Given the description of an element on the screen output the (x, y) to click on. 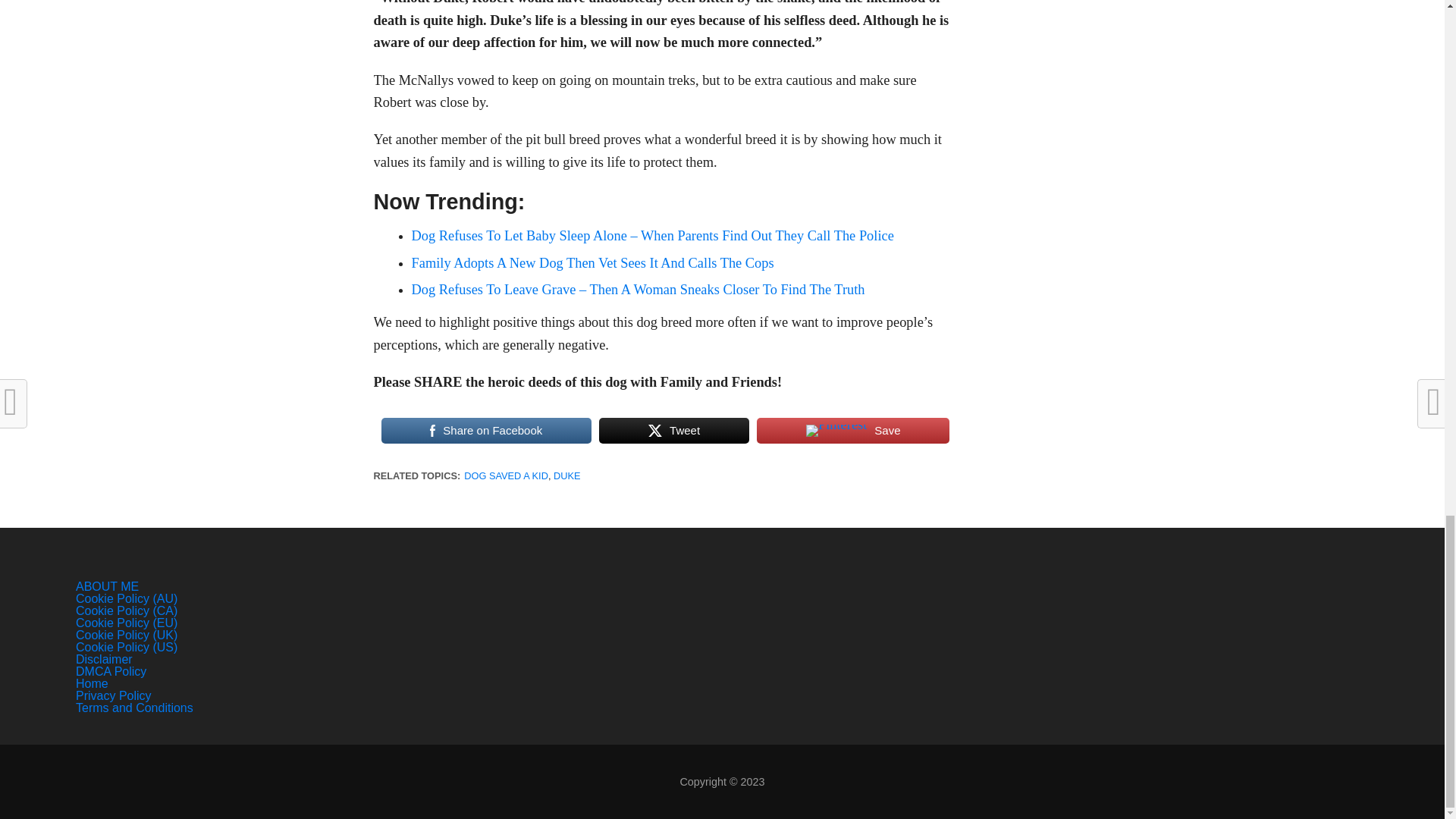
DOG SAVED A KID (506, 475)
Save (853, 430)
Share on Facebook (485, 430)
DUKE (566, 475)
Family Adopts A New Dog Then Vet Sees It And Calls The Cops (591, 263)
Tweet (673, 430)
ABOUT ME (106, 585)
